Given the description of an element on the screen output the (x, y) to click on. 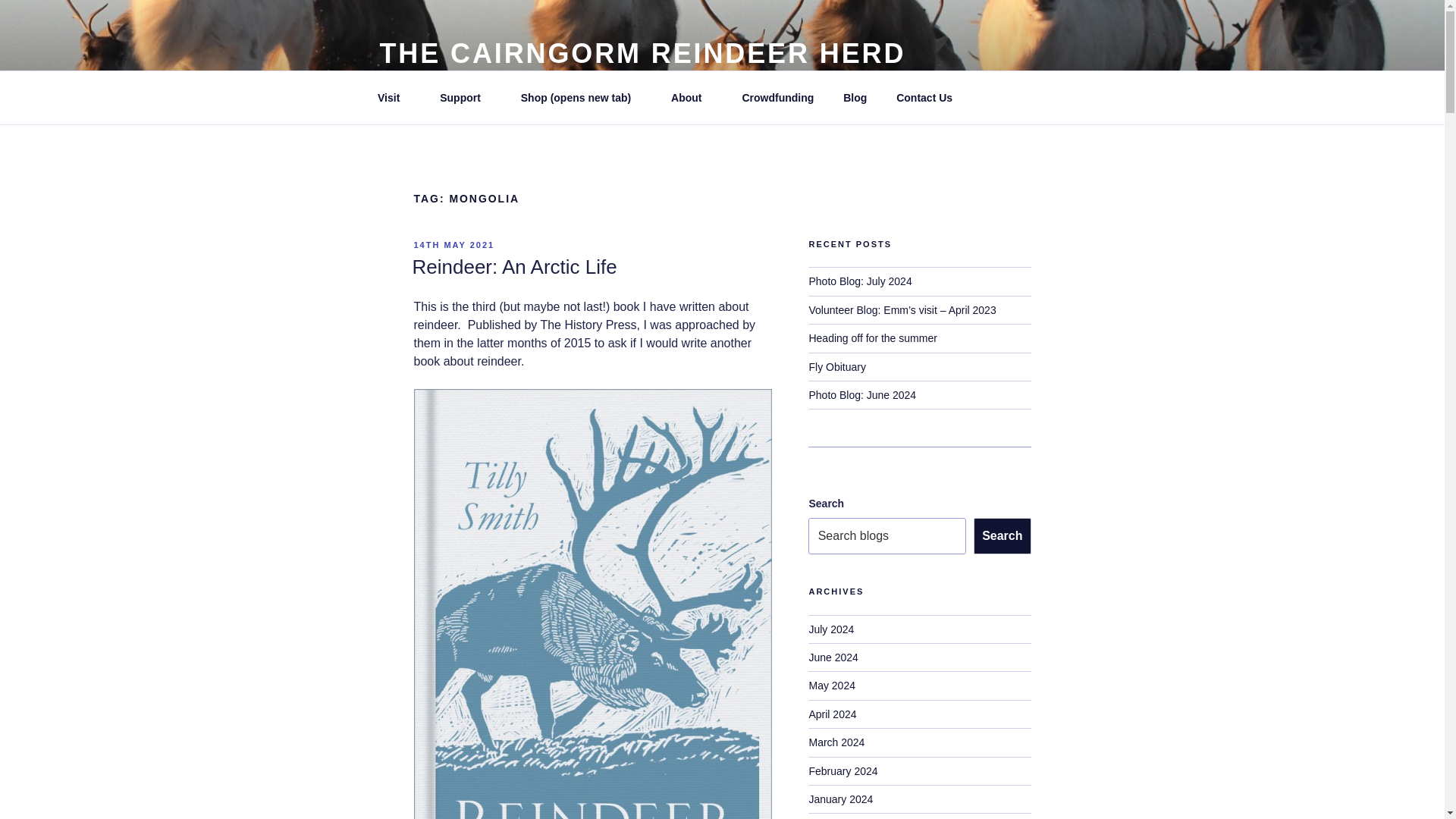
Support (465, 97)
Reindeer: An Arctic Life (514, 266)
Blog (854, 97)
About (691, 97)
THE CAIRNGORM REINDEER HERD (641, 52)
Contact Us (924, 97)
14TH MAY 2021 (454, 244)
Visit (393, 97)
Crowdfunding (778, 97)
